Given the description of an element on the screen output the (x, y) to click on. 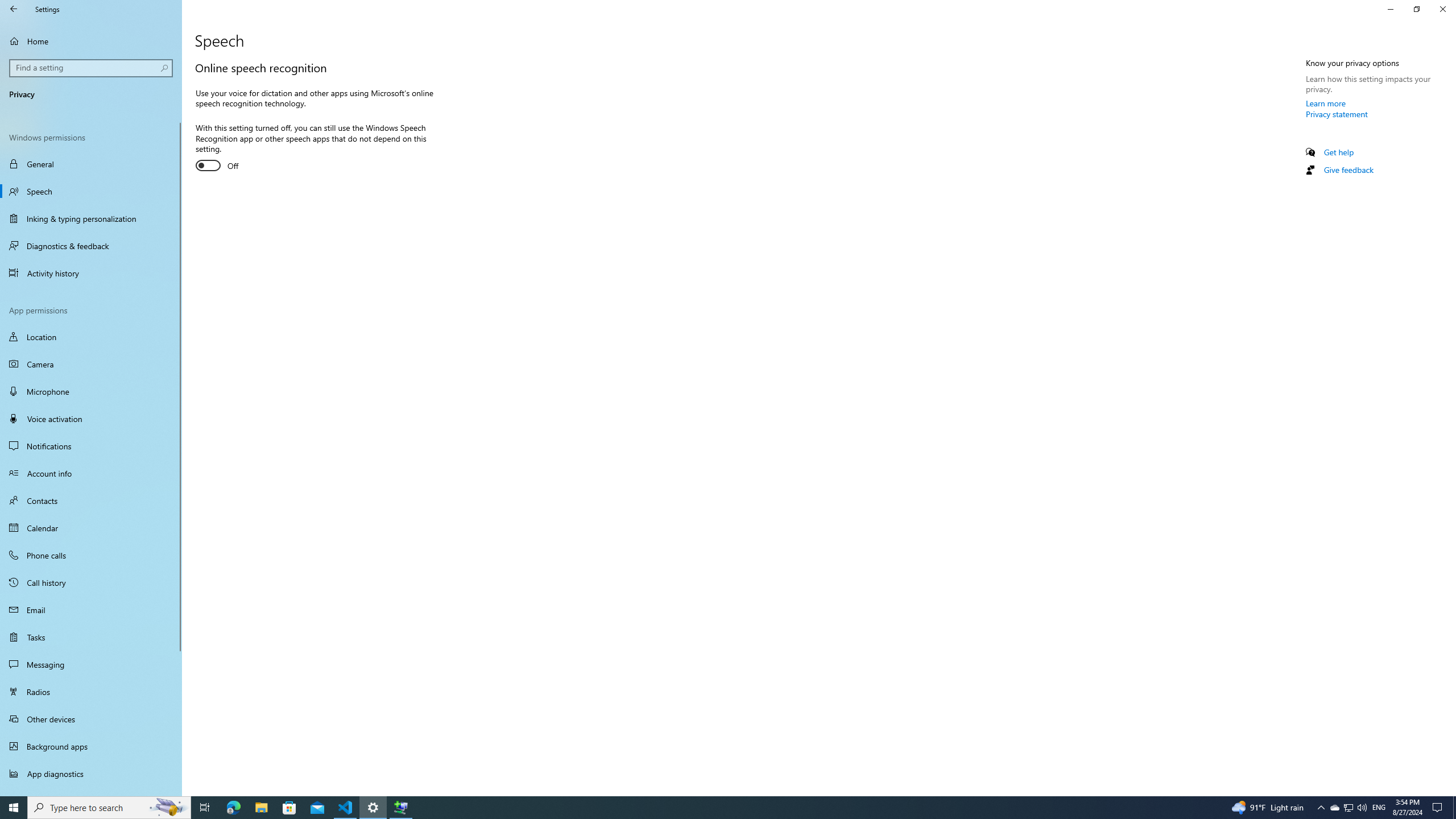
Background apps (91, 746)
Automatic file downloads (91, 791)
Voice activation (91, 418)
Notifications (91, 445)
Phone calls (91, 554)
